Given the description of an element on the screen output the (x, y) to click on. 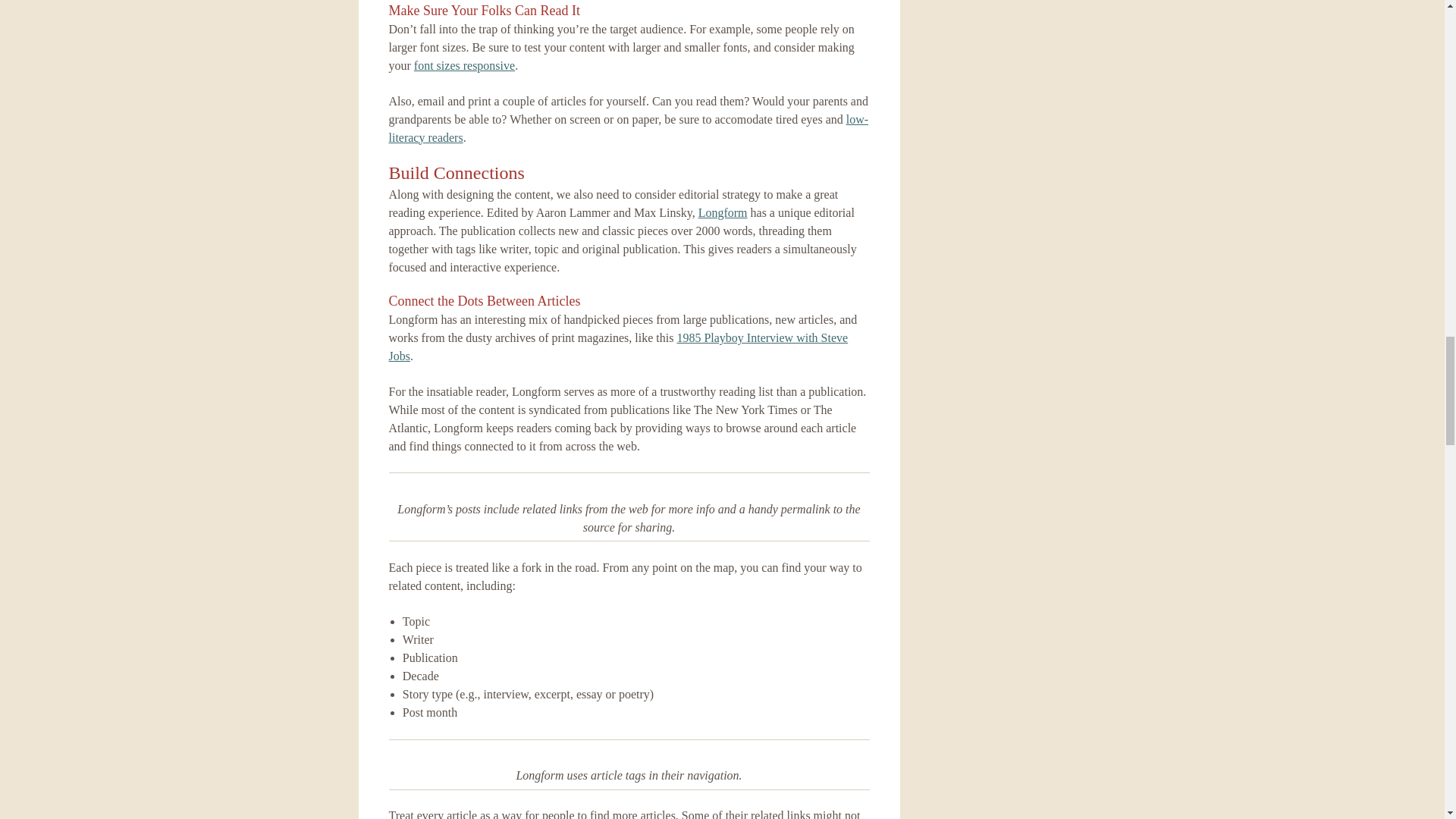
Longform (723, 212)
1985 Playboy Interview with Steve Jobs (617, 346)
low-literacy readers (627, 128)
font sizes responsive (464, 65)
